Given the description of an element on the screen output the (x, y) to click on. 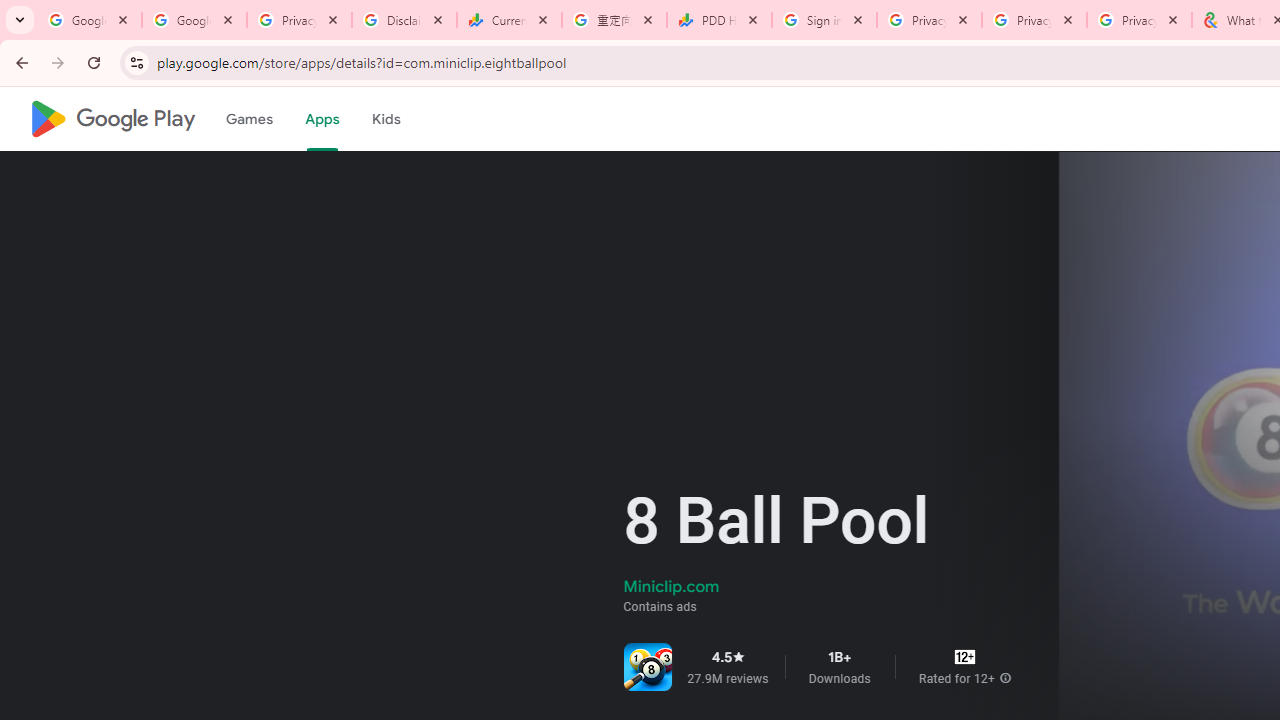
Games (248, 119)
More info about this content rating (1005, 678)
PDD Holdings Inc - ADR (PDD) Price & News - Google Finance (718, 20)
Apps (321, 119)
Privacy Checkup (1033, 20)
Privacy Checkup (1138, 20)
Currencies - Google Finance (509, 20)
Miniclip.com (671, 586)
Sign in - Google Accounts (823, 20)
